Given the description of an element on the screen output the (x, y) to click on. 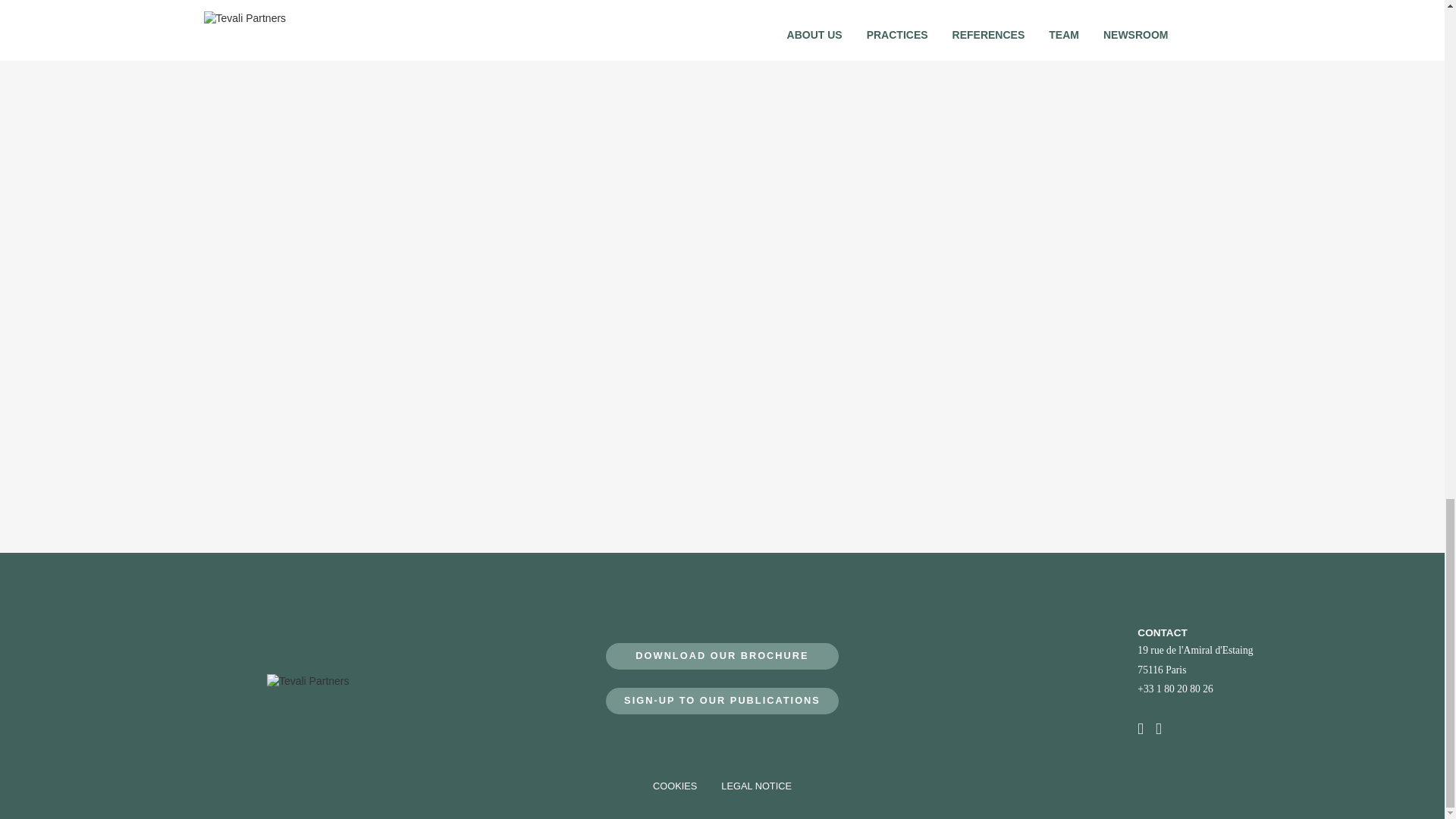
LEGAL NOTICE (756, 786)
COOKIES (674, 786)
SIGN-UP TO OUR PUBLICATIONS (722, 700)
DOWNLOAD OUR BROCHURE (722, 655)
